Given the description of an element on the screen output the (x, y) to click on. 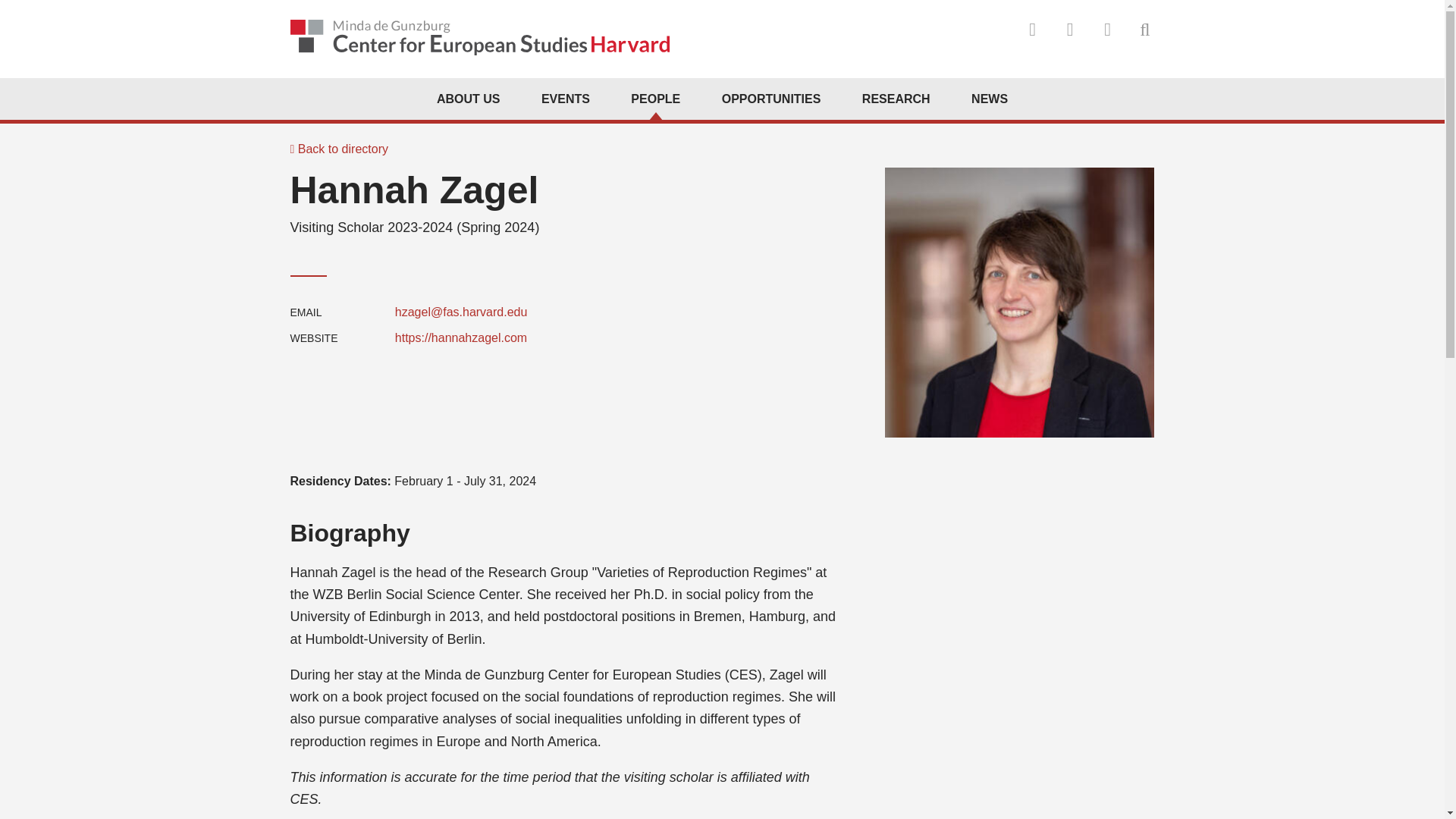
EVENTS (565, 98)
PEOPLE (654, 98)
ABOUT US (468, 98)
